Given the description of an element on the screen output the (x, y) to click on. 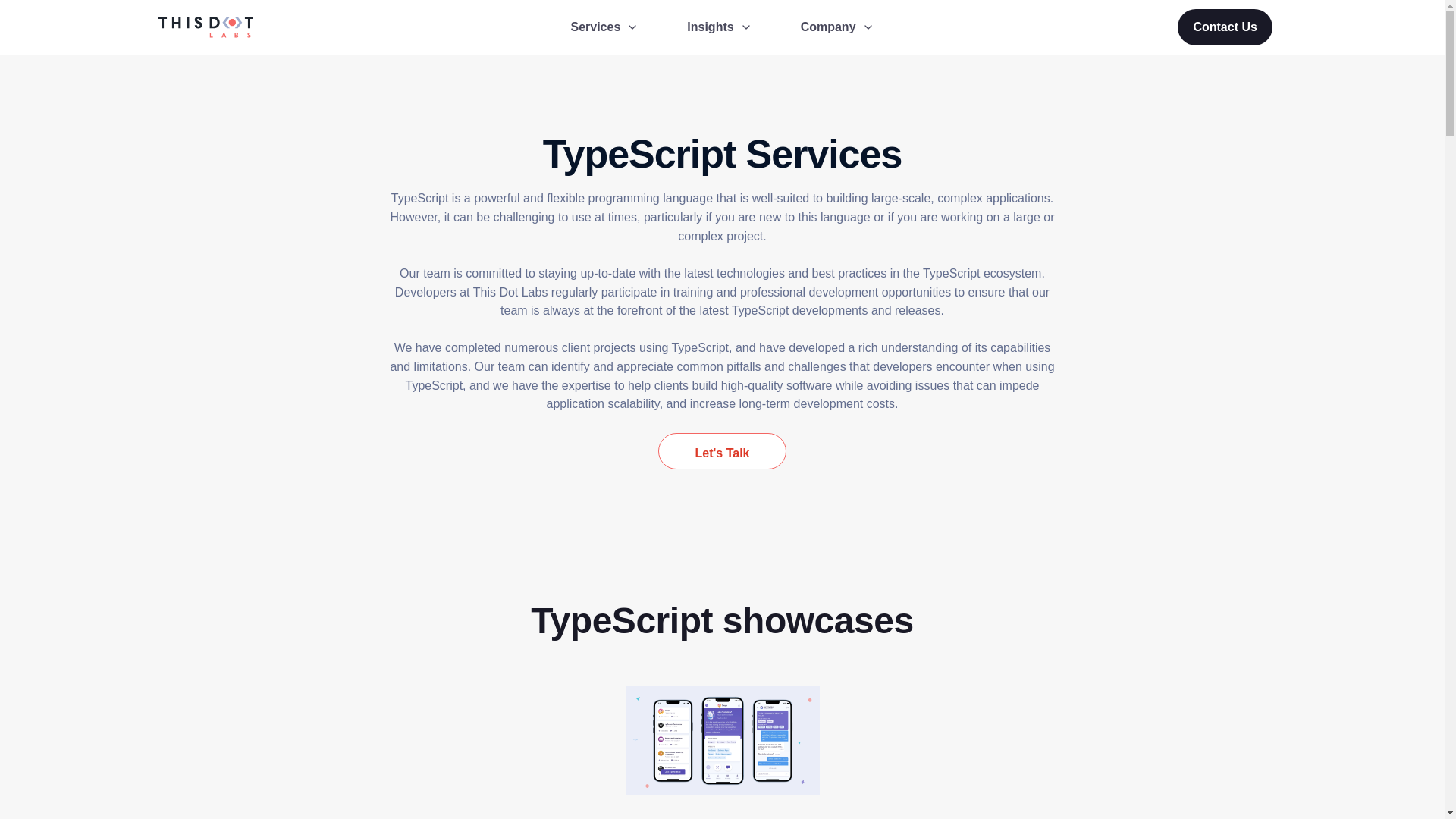
Company (837, 27)
Services (604, 27)
Let's Talk (722, 451)
Contact Us (1224, 27)
Insights (719, 27)
